Given the description of an element on the screen output the (x, y) to click on. 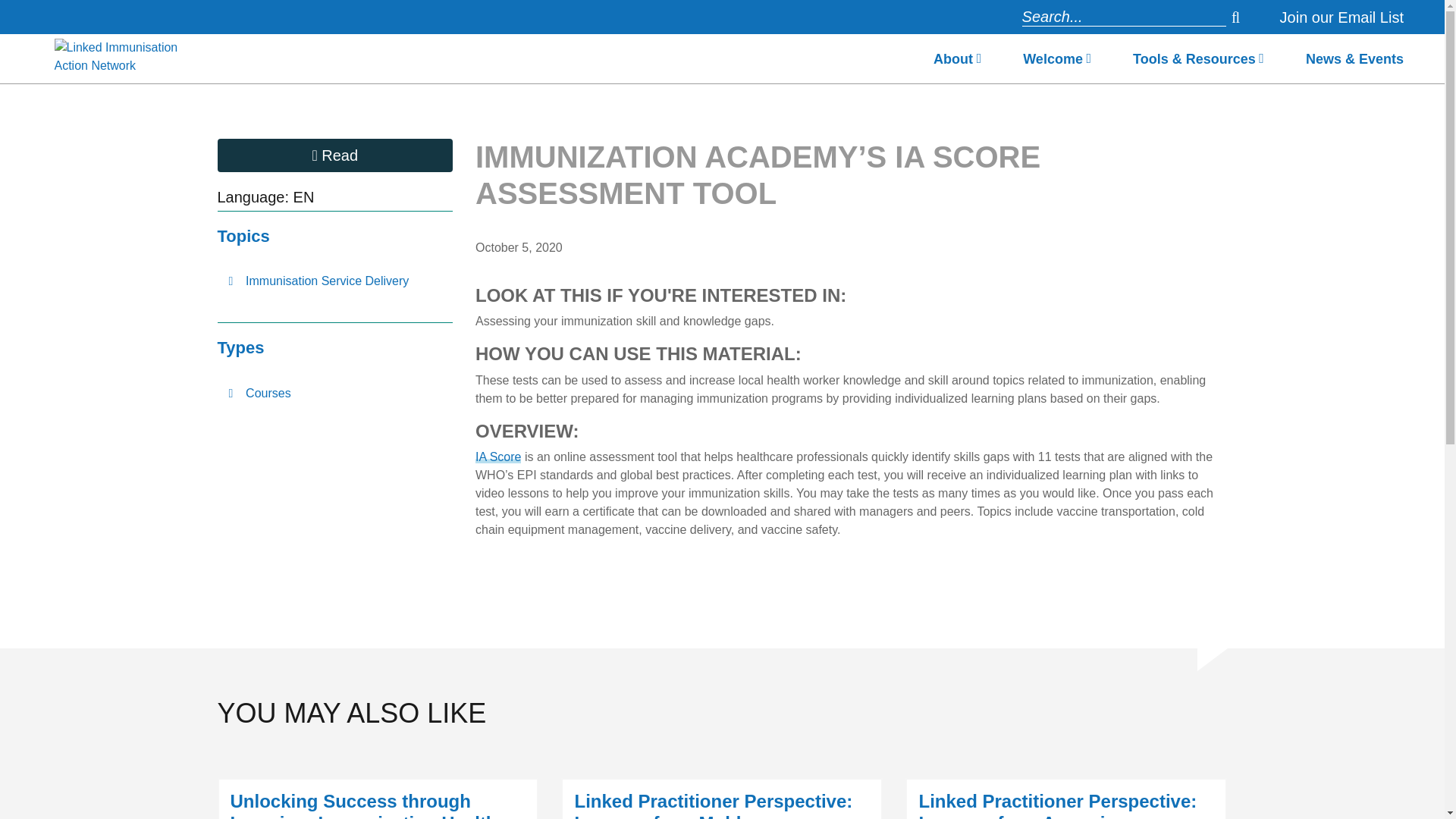
Linked Immunisation Action Network (125, 58)
Join our Email List (1341, 17)
Read (334, 154)
About (957, 63)
About (957, 63)
Immunisation Service Delivery (335, 280)
immunisation-service-delivery (335, 280)
Welcome (1056, 63)
Courses (335, 393)
